Given the description of an element on the screen output the (x, y) to click on. 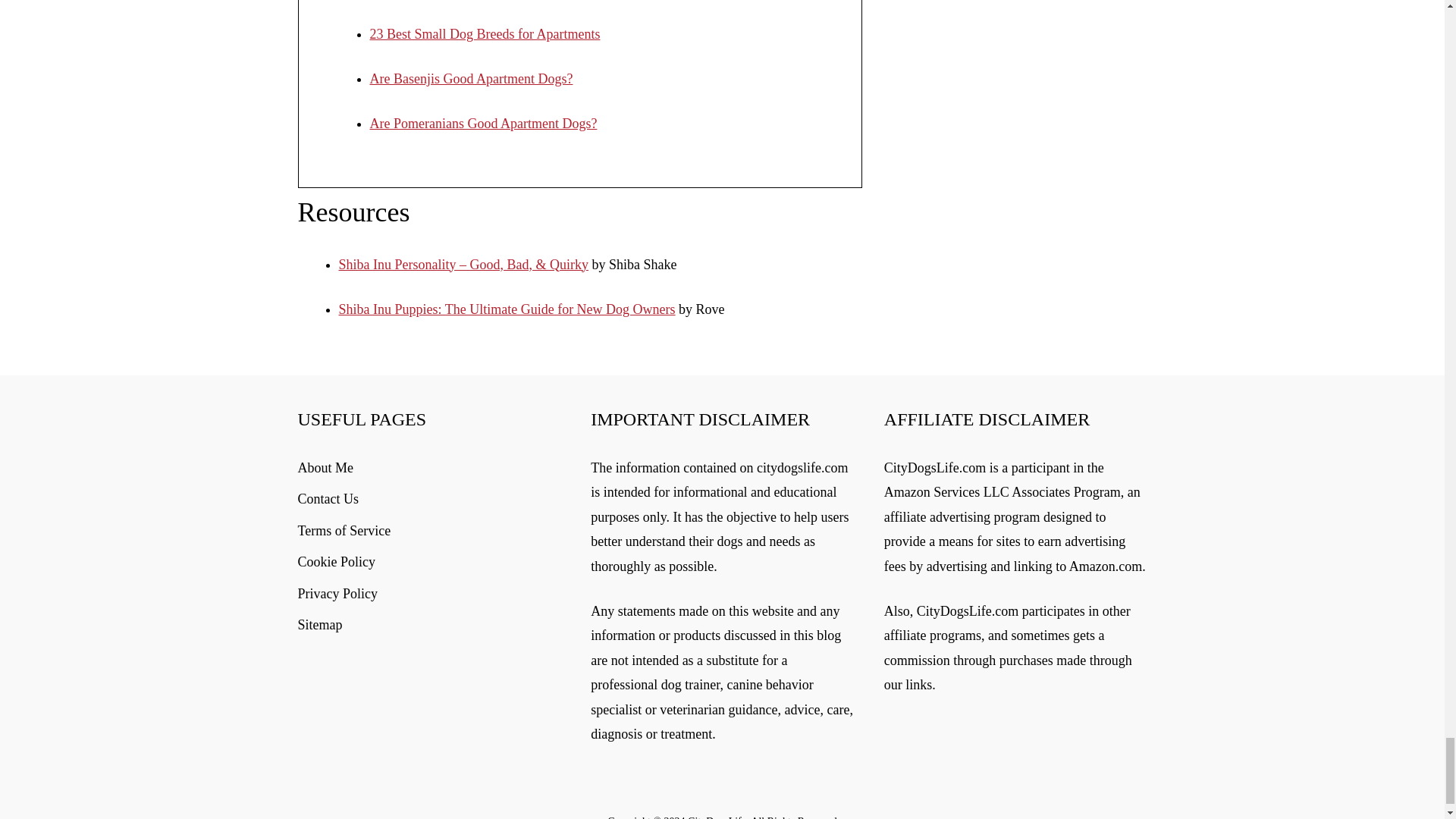
Are Pomeranians Good Apartment Dogs? (482, 123)
Are Basenjis Good Apartment Dogs? (471, 78)
23 Best Small Dog Breeds for Apartments (484, 33)
